Given the description of an element on the screen output the (x, y) to click on. 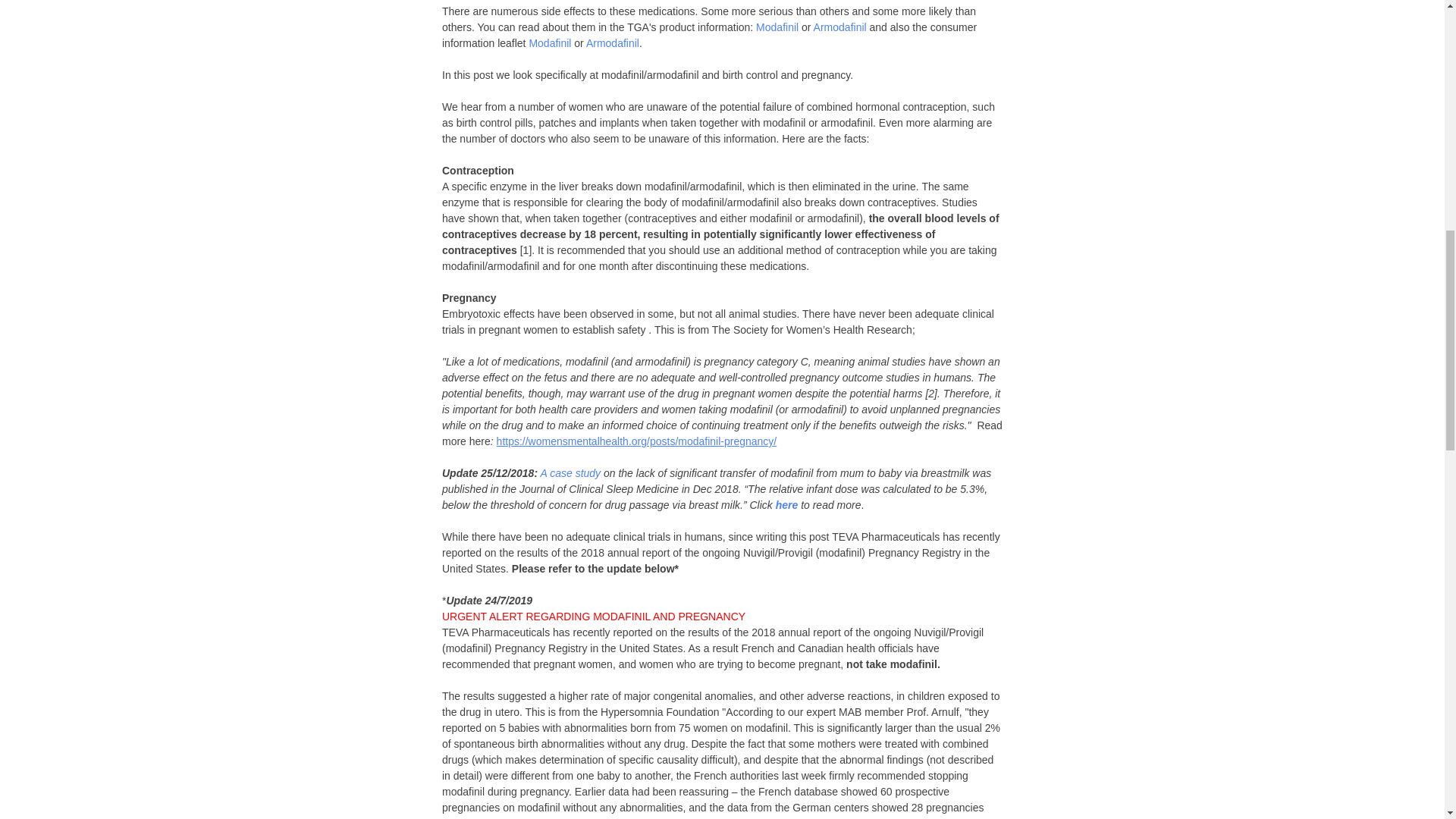
Armodafinil (839, 27)
Modafinil (776, 27)
A ca (550, 472)
se study (579, 472)
Modafinil (549, 42)
here  (786, 504)
Armodafinil (612, 42)
